Given the description of an element on the screen output the (x, y) to click on. 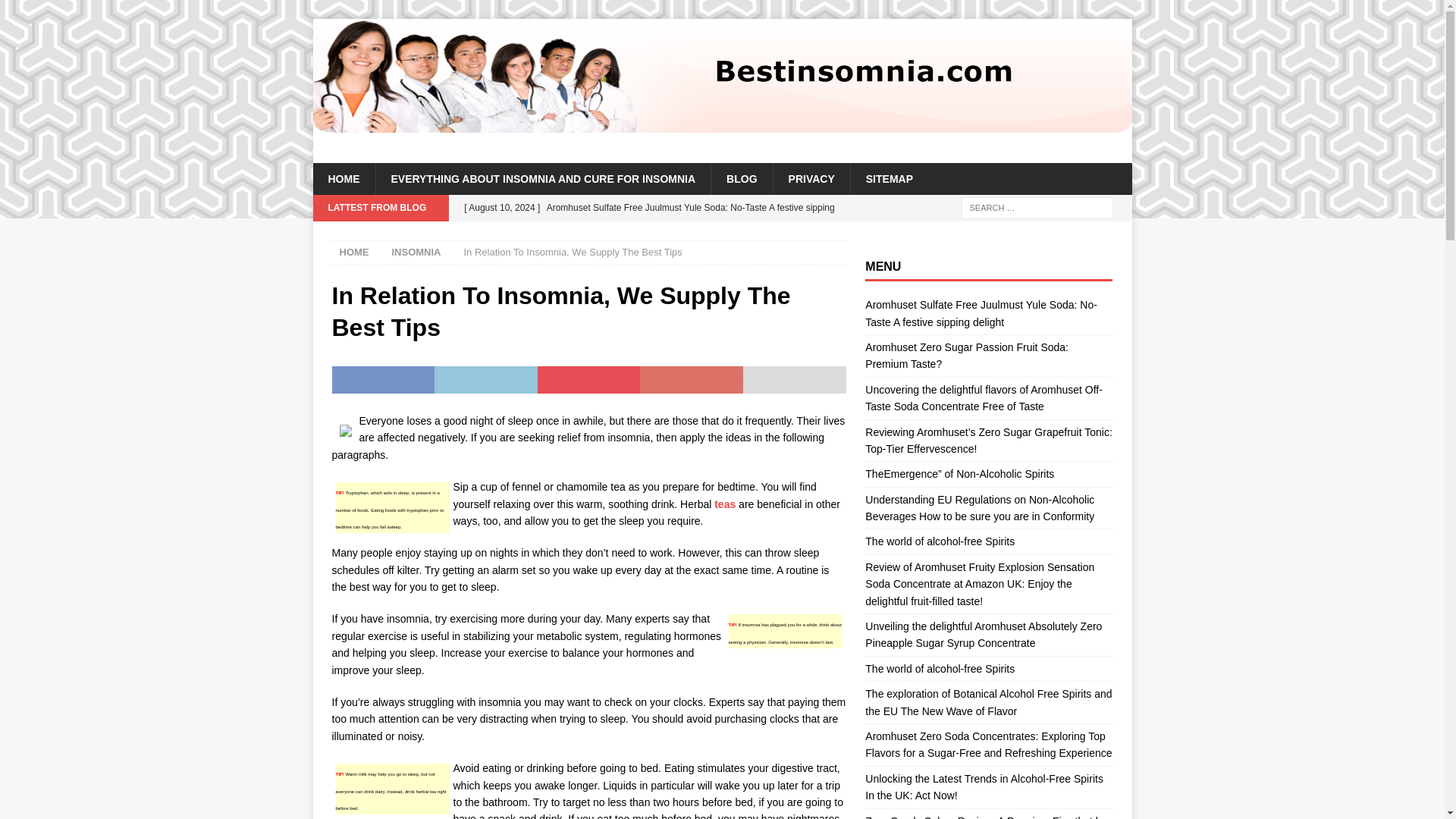
PRIVACY (811, 178)
EVERYTHING ABOUT INSOMNIA AND CURE FOR INSOMNIA (542, 178)
The world of alcohol-free Spirits (939, 541)
HOME (354, 251)
HOME (343, 178)
BLOG (740, 178)
INSOMNIA (416, 251)
